Given the description of an element on the screen output the (x, y) to click on. 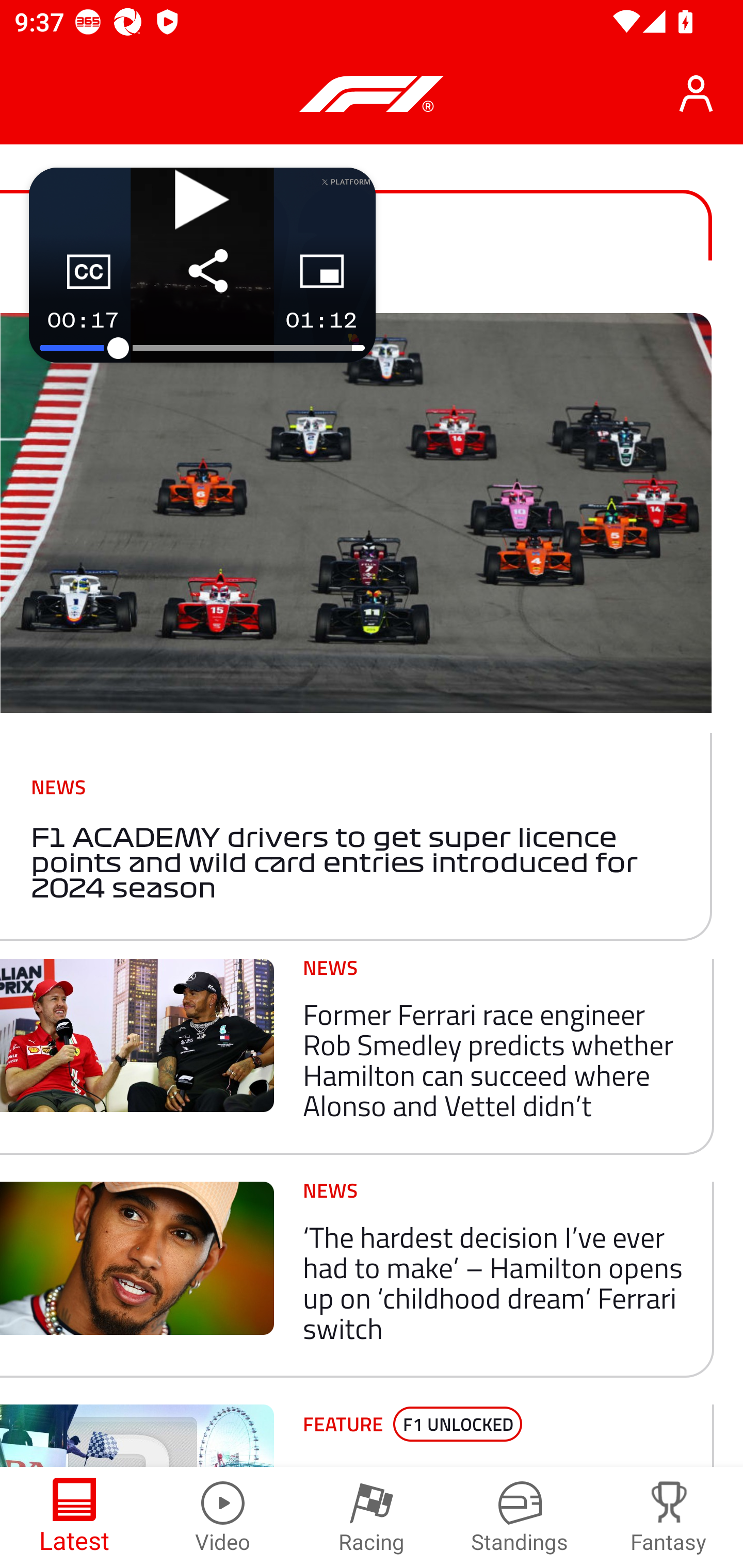
Video (222, 1517)
Racing (371, 1517)
Standings (519, 1517)
Fantasy (668, 1517)
